Given the description of an element on the screen output the (x, y) to click on. 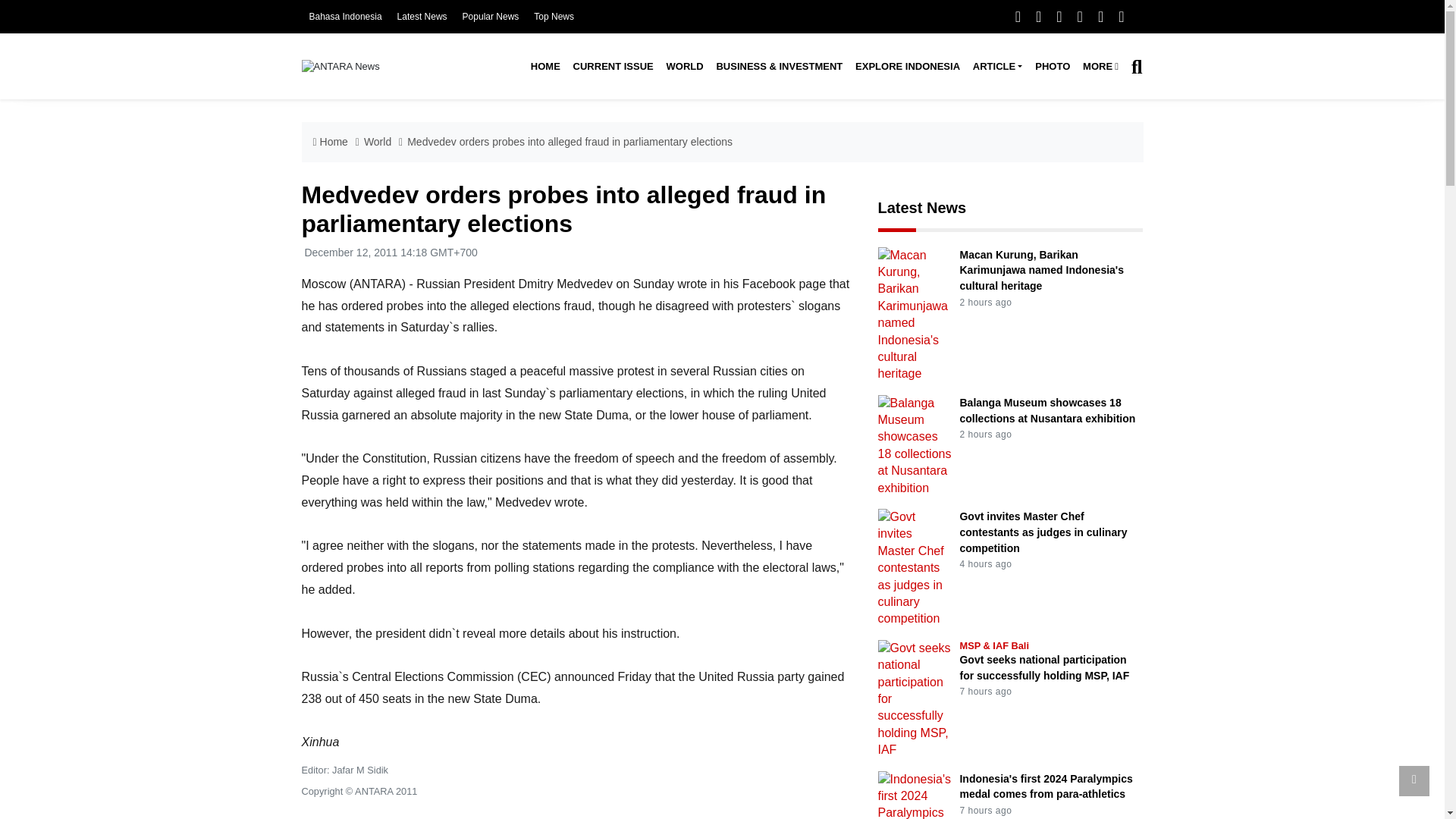
EXPLORE INDONESIA (907, 66)
Current Issue (612, 66)
ANTARA News (340, 66)
Top News (553, 16)
Top News (553, 16)
Bahasa Indonesia (344, 16)
ARTICLE (996, 66)
Explore Indonesia (907, 66)
Popular News (491, 16)
